Given the description of an element on the screen output the (x, y) to click on. 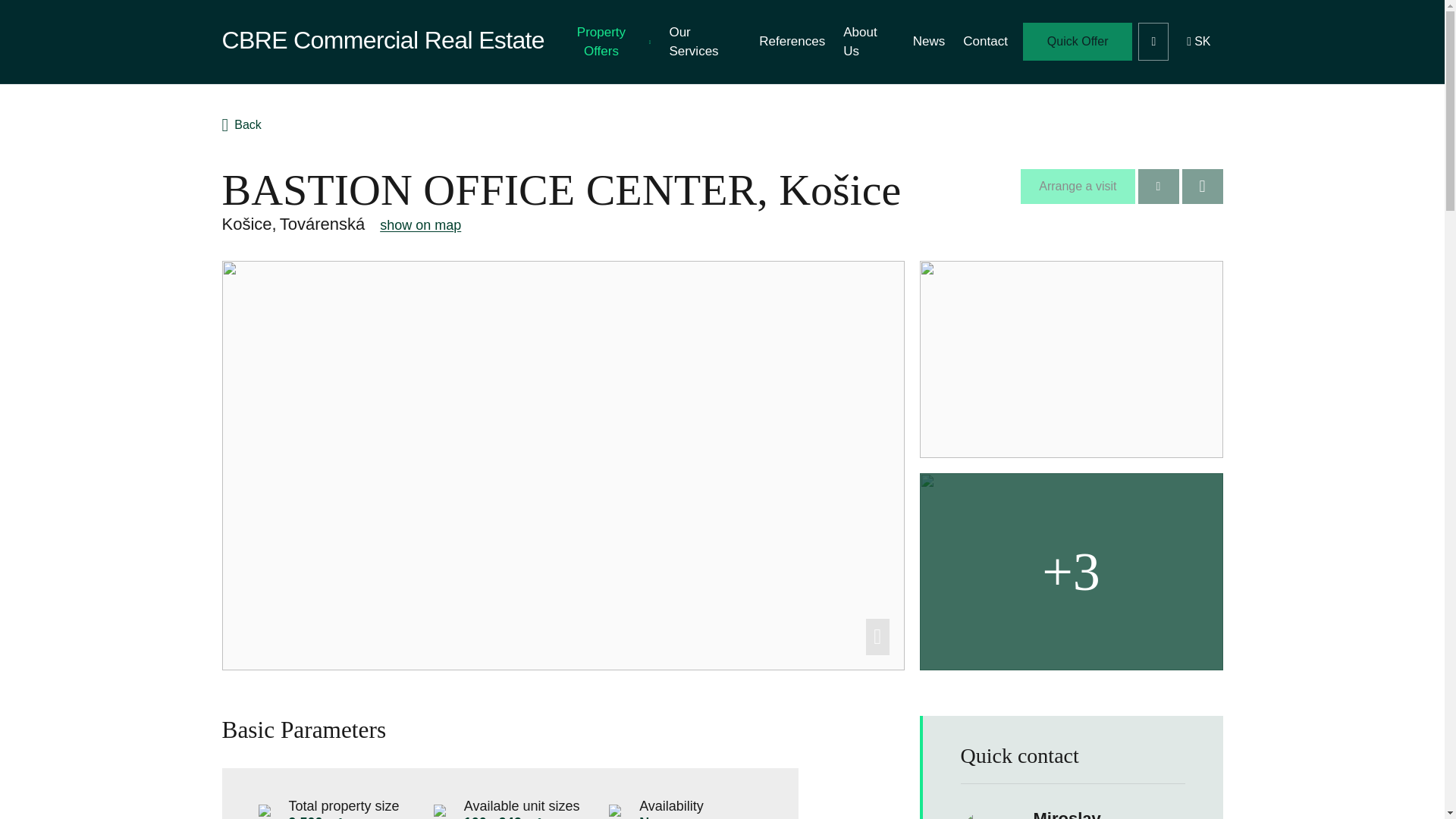
Quick Offer (1077, 41)
SK (1198, 41)
Back (240, 125)
show on map (420, 224)
News (929, 41)
References (791, 41)
Property Offers (604, 41)
Our Services (704, 41)
Arrange a visit (1077, 185)
Contact (984, 41)
